Given the description of an element on the screen output the (x, y) to click on. 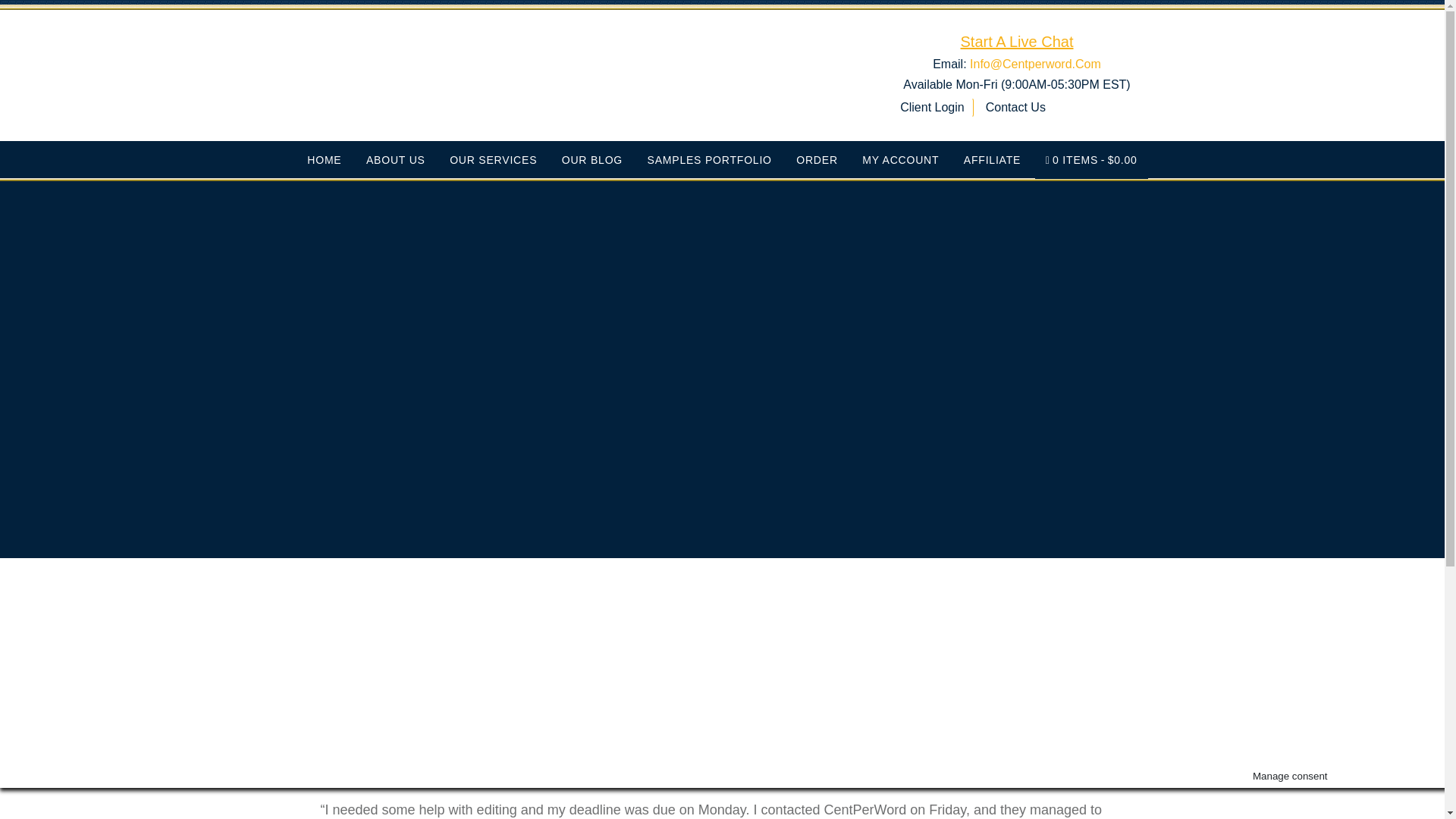
ABOUT US (395, 159)
Start A Live Chat (1016, 41)
Client Login (931, 107)
AFFILIATE (991, 159)
Contact Us (1015, 107)
OUR BLOG (592, 159)
SAMPLES PORTFOLIO (710, 159)
MY ACCOUNT (900, 159)
Start shopping (1091, 159)
HOME (324, 159)
OUR SERVICES (493, 159)
ORDER (817, 159)
